Given the description of an element on the screen output the (x, y) to click on. 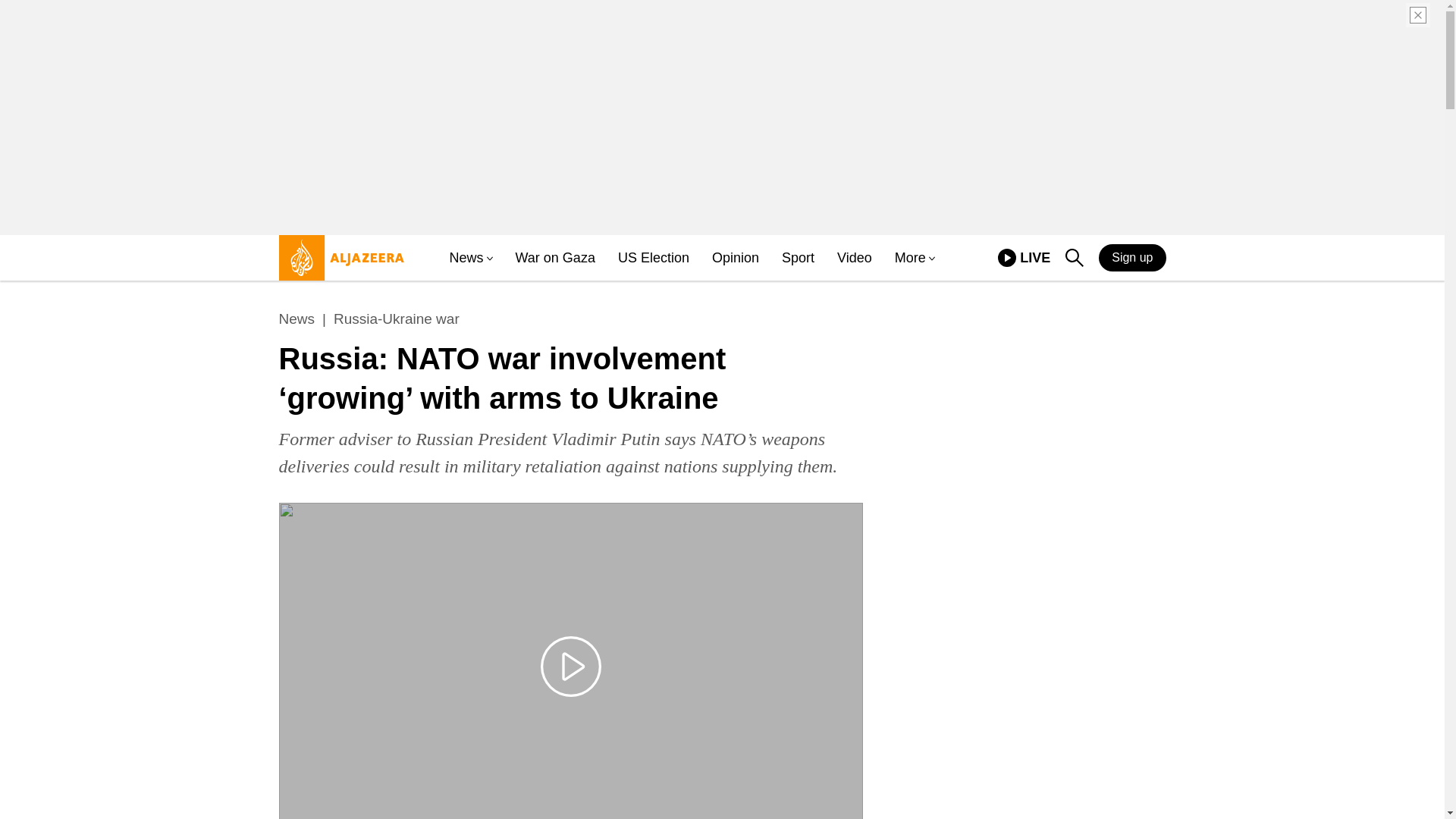
US Election (652, 257)
Video (854, 257)
Sign up (1132, 257)
News (465, 257)
Sport (797, 257)
search (1074, 257)
play video (569, 666)
More (910, 257)
play (1006, 257)
Opinion (734, 257)
